Given the description of an element on the screen output the (x, y) to click on. 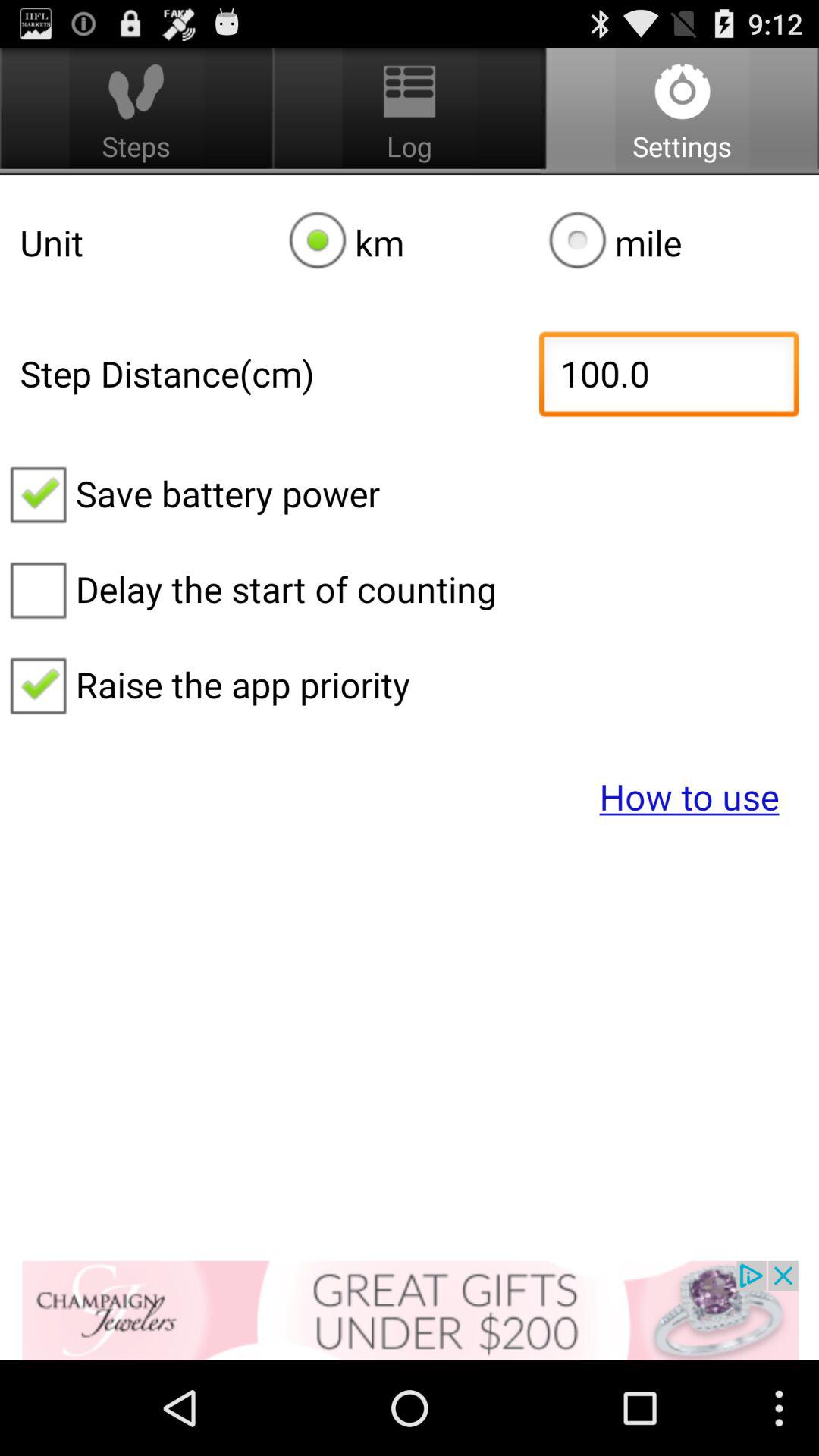
advertisement for gifts under 200 (409, 1310)
